Given the description of an element on the screen output the (x, y) to click on. 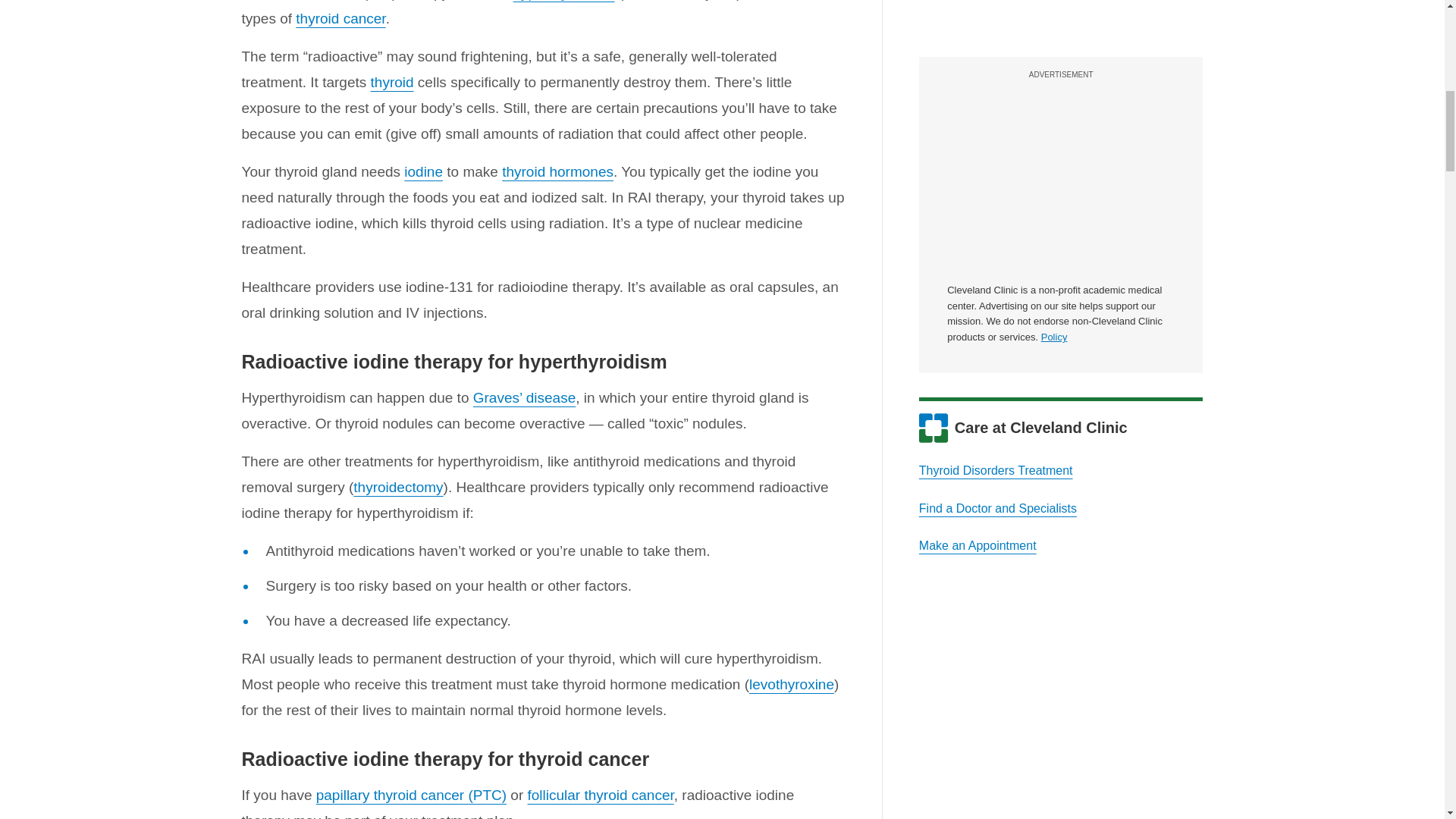
thyroid (392, 82)
thyroid cancer (340, 18)
iodine (423, 171)
